Given the description of an element on the screen output the (x, y) to click on. 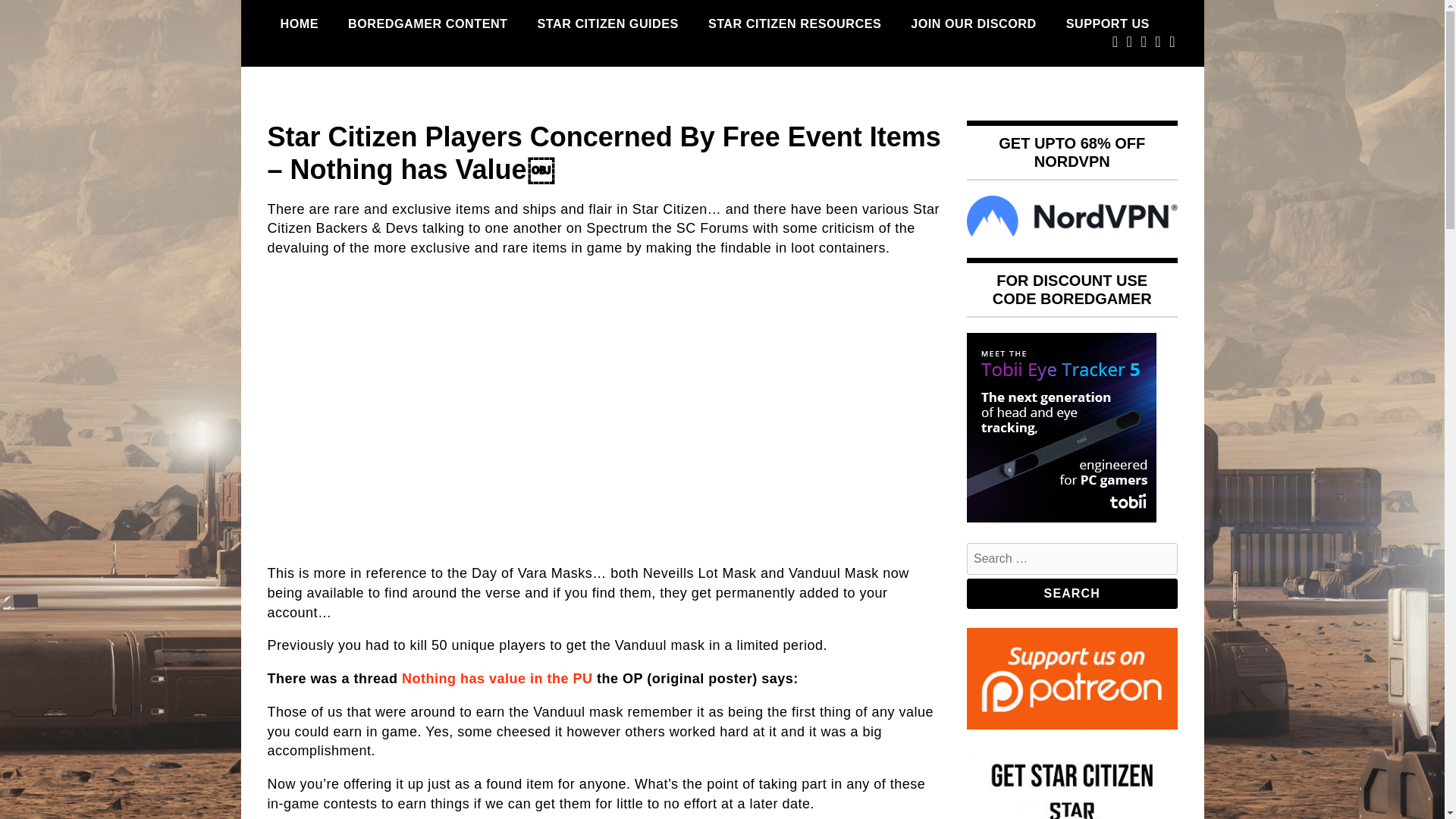
Search (1071, 593)
Nothing has value in the PU (496, 678)
JOIN OUR DISCORD (972, 23)
HOME (298, 23)
STAR CITIZEN GUIDES (607, 23)
BOREDGAMER CONTENT (427, 23)
SUPPORT US (1107, 23)
BoredGamer (350, 114)
STAR CITIZEN RESOURCES (794, 23)
